Given the description of an element on the screen output the (x, y) to click on. 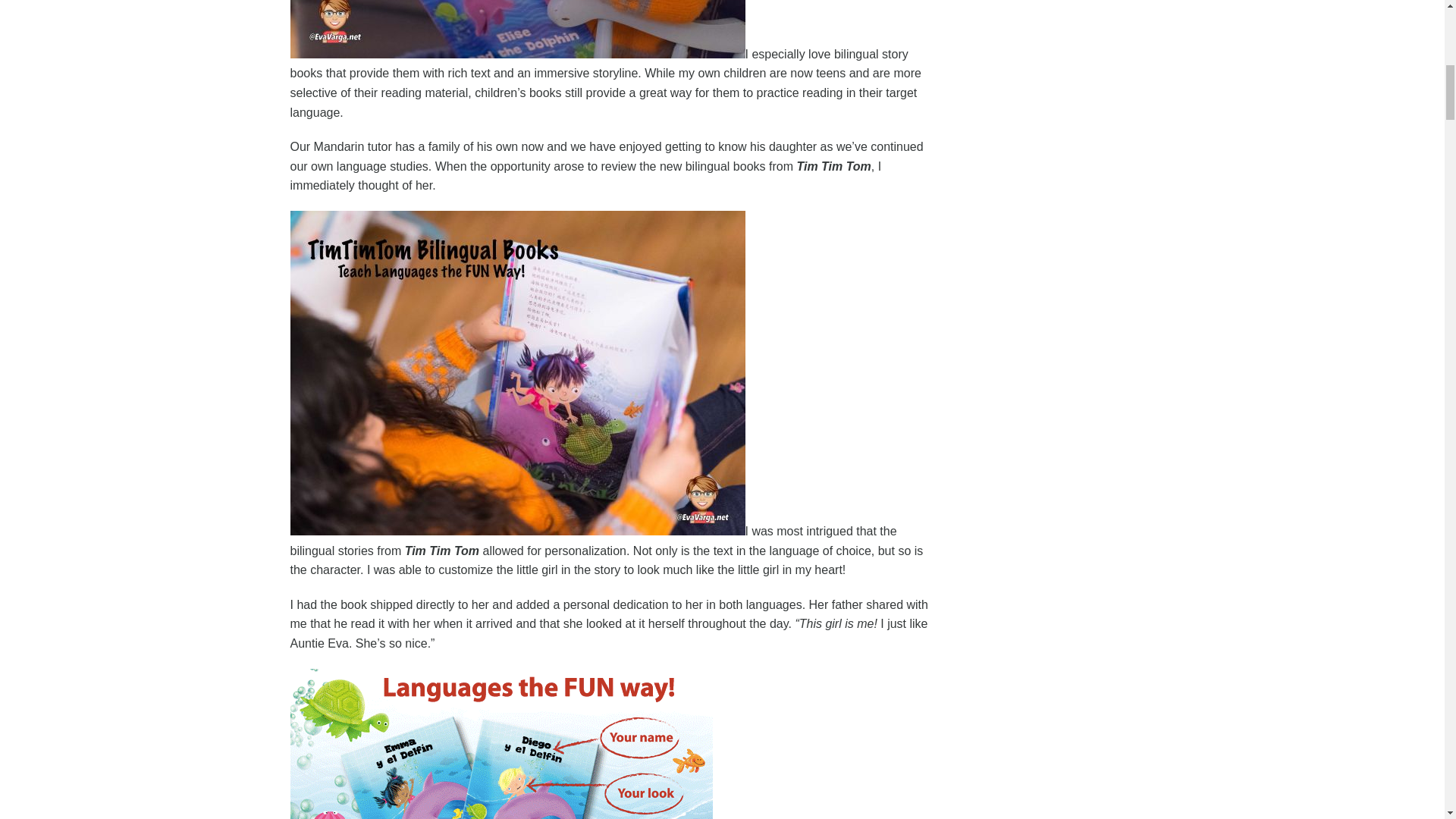
Tim Tim Tom (441, 550)
Tim Tim Tom (833, 165)
